Given the description of an element on the screen output the (x, y) to click on. 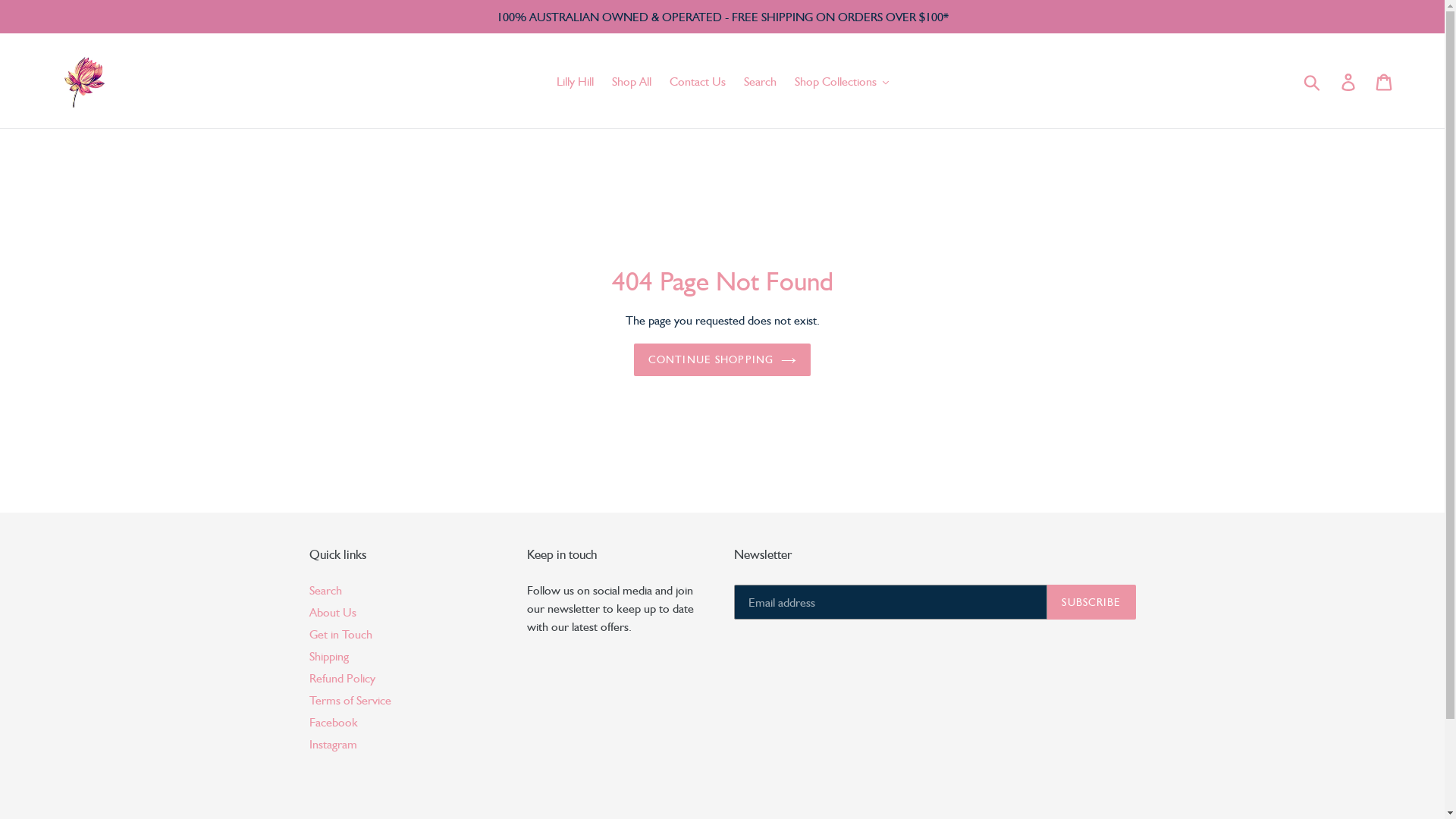
Log in Element type: text (1349, 80)
Lilly Hill Element type: text (575, 80)
Refund Policy Element type: text (342, 677)
Contact Us Element type: text (696, 80)
Shop All Element type: text (630, 80)
Shipping Element type: text (328, 655)
Get in Touch Element type: text (340, 633)
Submit Element type: text (1312, 80)
About Us Element type: text (332, 611)
Cart Element type: text (1384, 80)
CONTINUE SHOPPING Element type: text (721, 359)
Search Element type: text (325, 589)
Facebook Element type: text (333, 721)
SUBSCRIBE Element type: text (1091, 601)
Search Element type: text (759, 80)
Instagram Element type: text (333, 743)
Terms of Service Element type: text (350, 699)
